Given the description of an element on the screen output the (x, y) to click on. 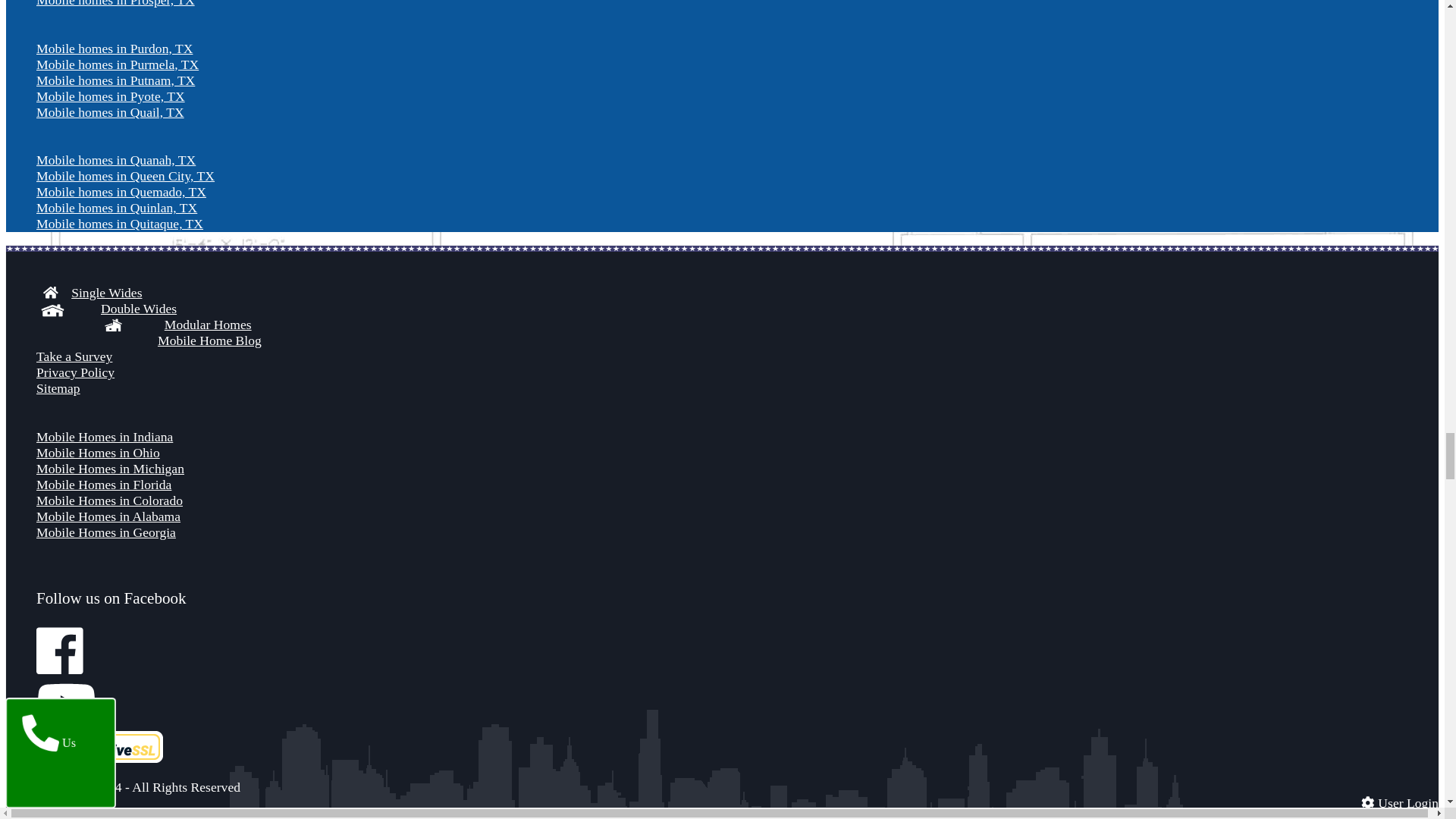
Mobile homes in Pyote, TX (110, 96)
Mobile homes in Purdon, TX (114, 48)
Mobile homes in Quail, TX (110, 111)
Mobile homes in Queen City, TX (125, 175)
Mobile homes in Quemado, TX (121, 191)
Mobile homes in Putnam, TX (115, 79)
Mobile homes in Purmela, TX (117, 64)
Mobile homes in Prosper, TX (115, 3)
Mobile homes in Quanah, TX (115, 159)
